Given the description of an element on the screen output the (x, y) to click on. 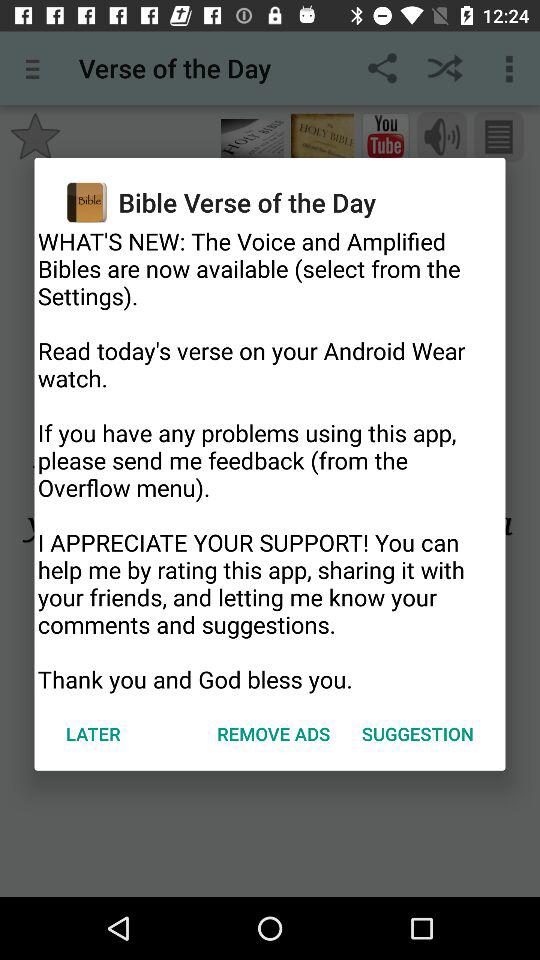
select remove ads icon (273, 733)
